Given the description of an element on the screen output the (x, y) to click on. 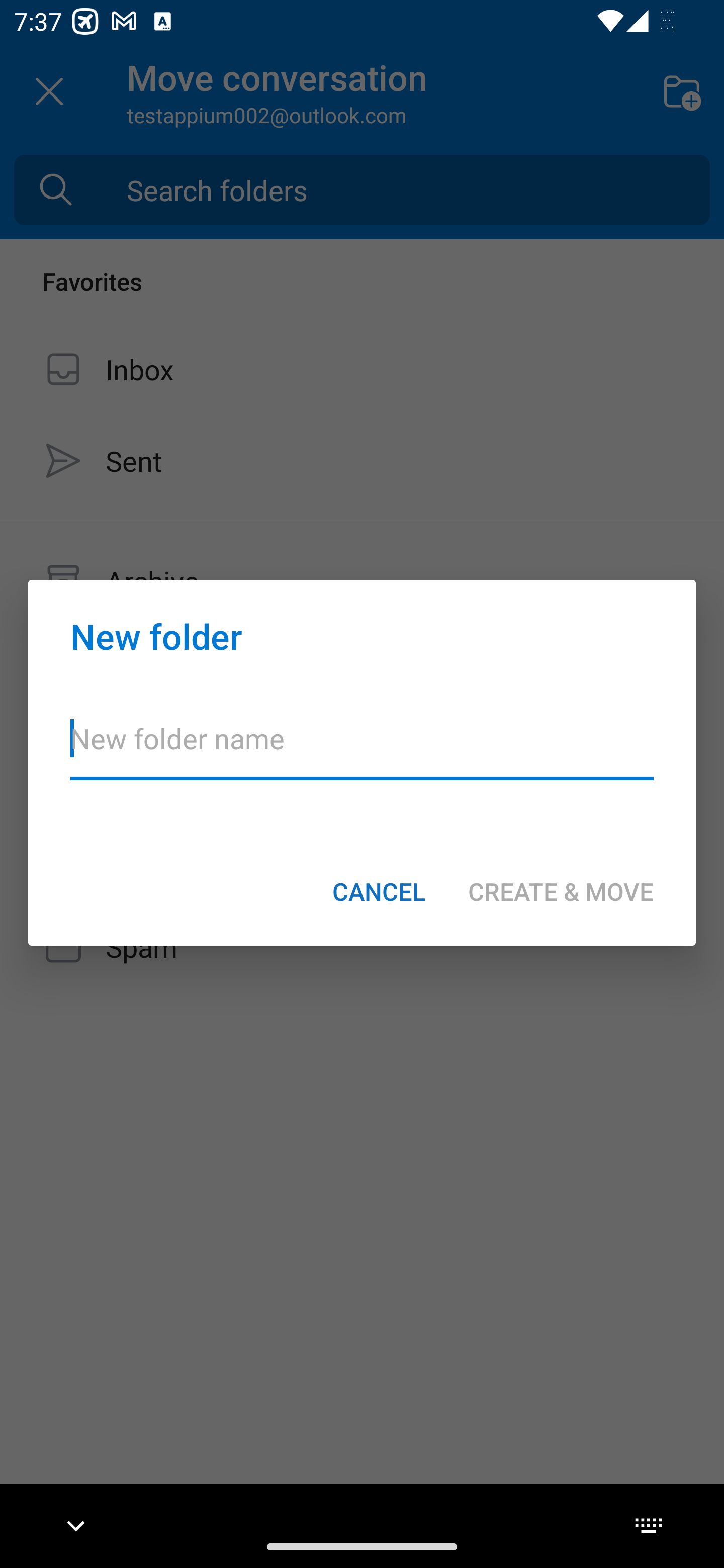
New folder name (361, 750)
CANCEL (378, 891)
CREATE & MOVE (560, 891)
